Given the description of an element on the screen output the (x, y) to click on. 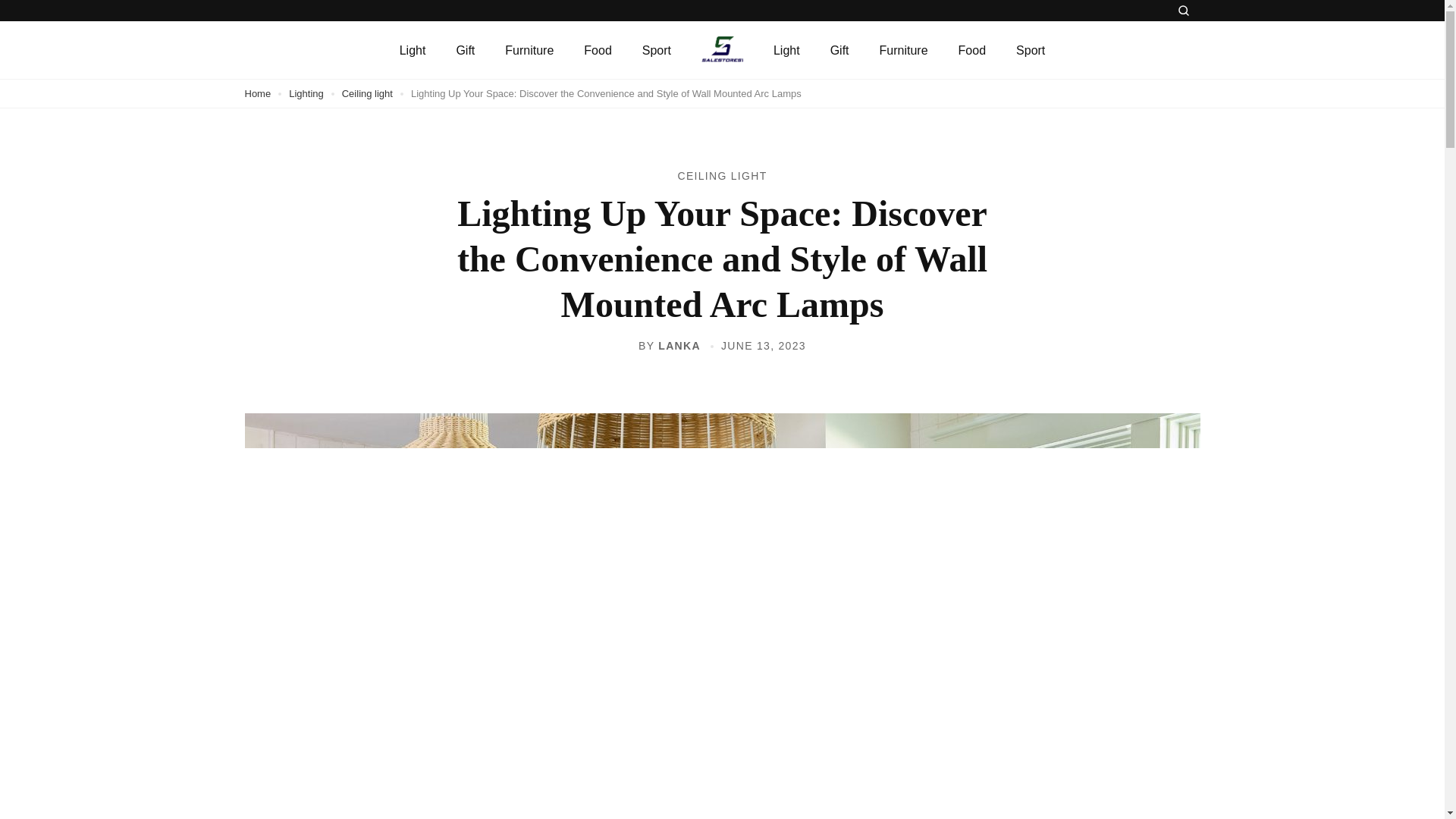
Light (412, 50)
Furniture (529, 50)
Gift (465, 50)
